Given the description of an element on the screen output the (x, y) to click on. 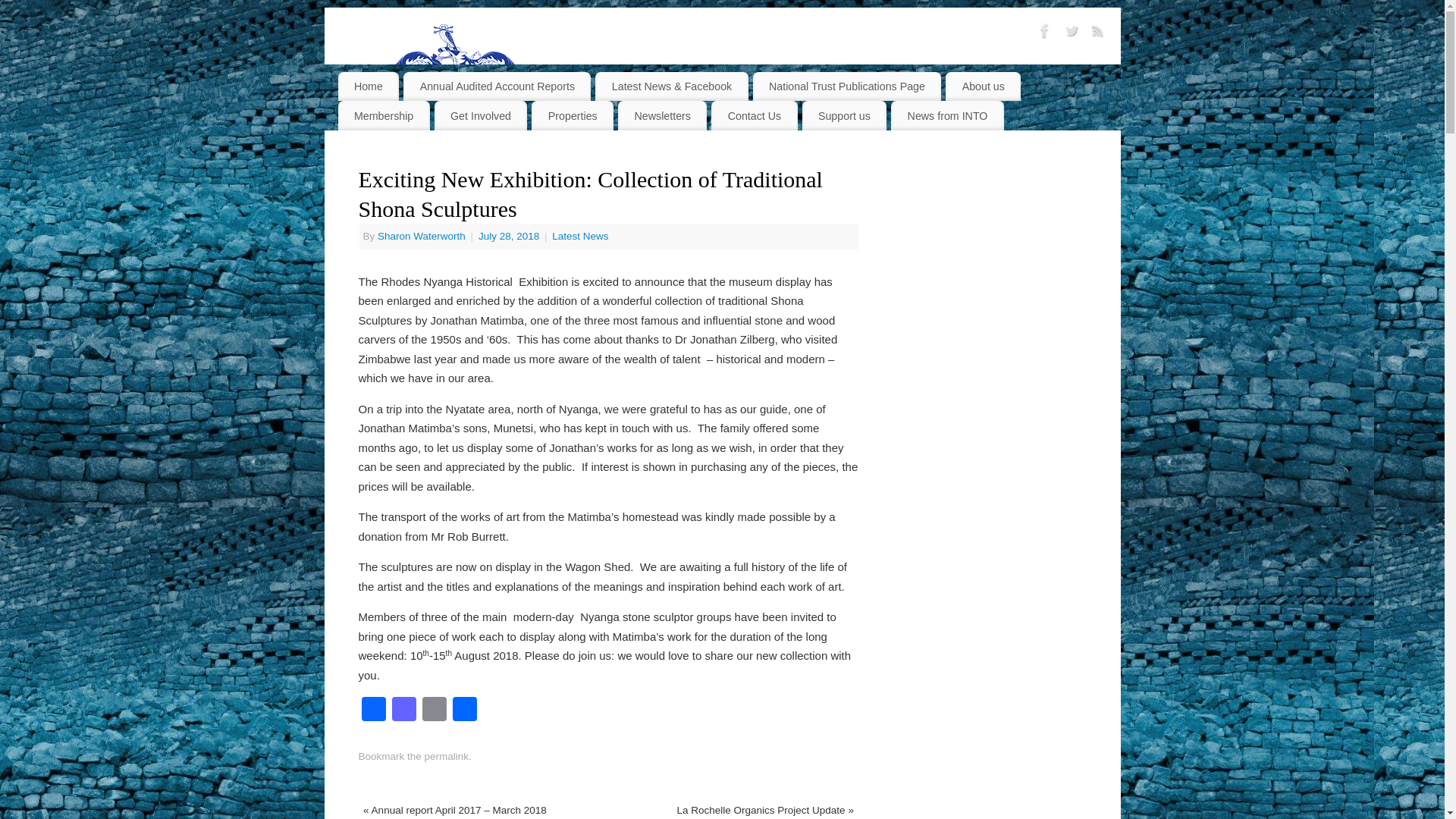
Email (433, 710)
Sharon Waterworth (421, 235)
Support us (844, 114)
Mastodon (403, 710)
About us (982, 86)
Facebook (373, 710)
View all posts by Sharon Waterworth (421, 235)
Facebook (373, 710)
Contact Us (753, 114)
